Given the description of an element on the screen output the (x, y) to click on. 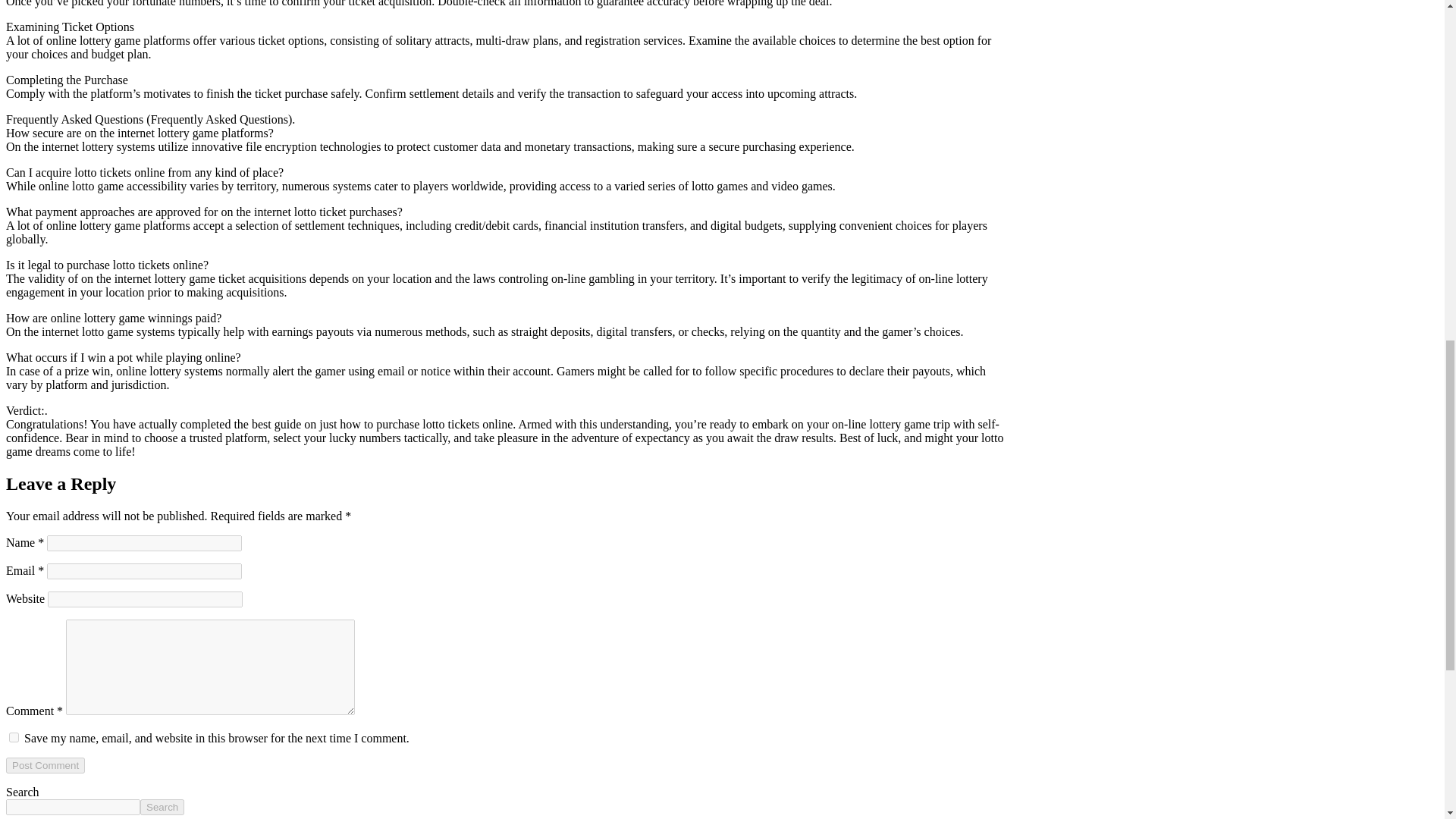
Search (161, 806)
yes (13, 737)
Post Comment (44, 765)
Post Comment (44, 765)
